Given the description of an element on the screen output the (x, y) to click on. 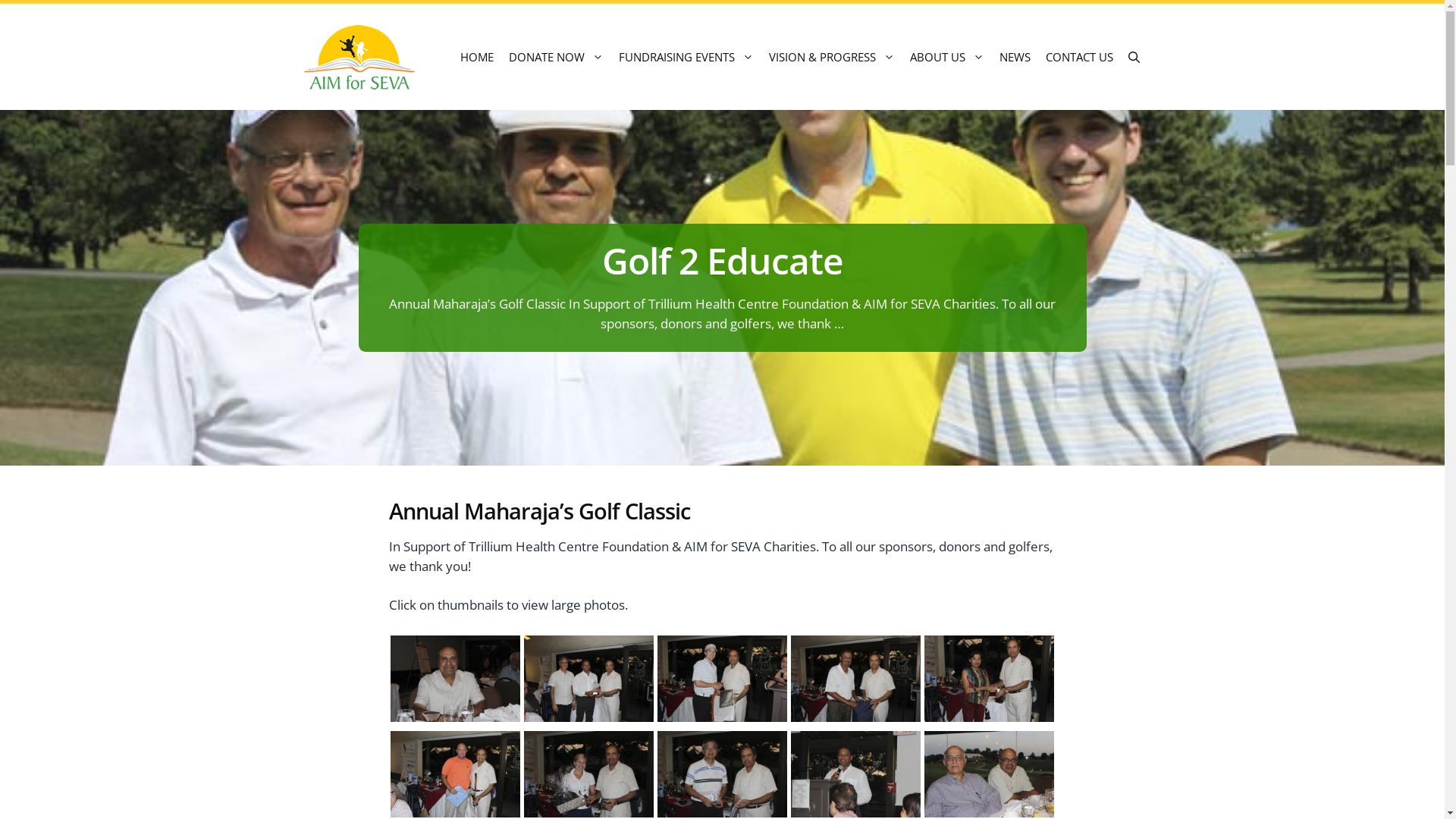
CONTACT US Element type: text (1078, 56)
FUNDRAISING EVENTS Element type: text (686, 56)
HOME Element type: text (475, 56)
ABOUT US Element type: text (946, 56)
DONATE NOW Element type: text (555, 56)
VISION & PROGRESS Element type: text (831, 56)
NEWS Element type: text (1014, 56)
